Given the description of an element on the screen output the (x, y) to click on. 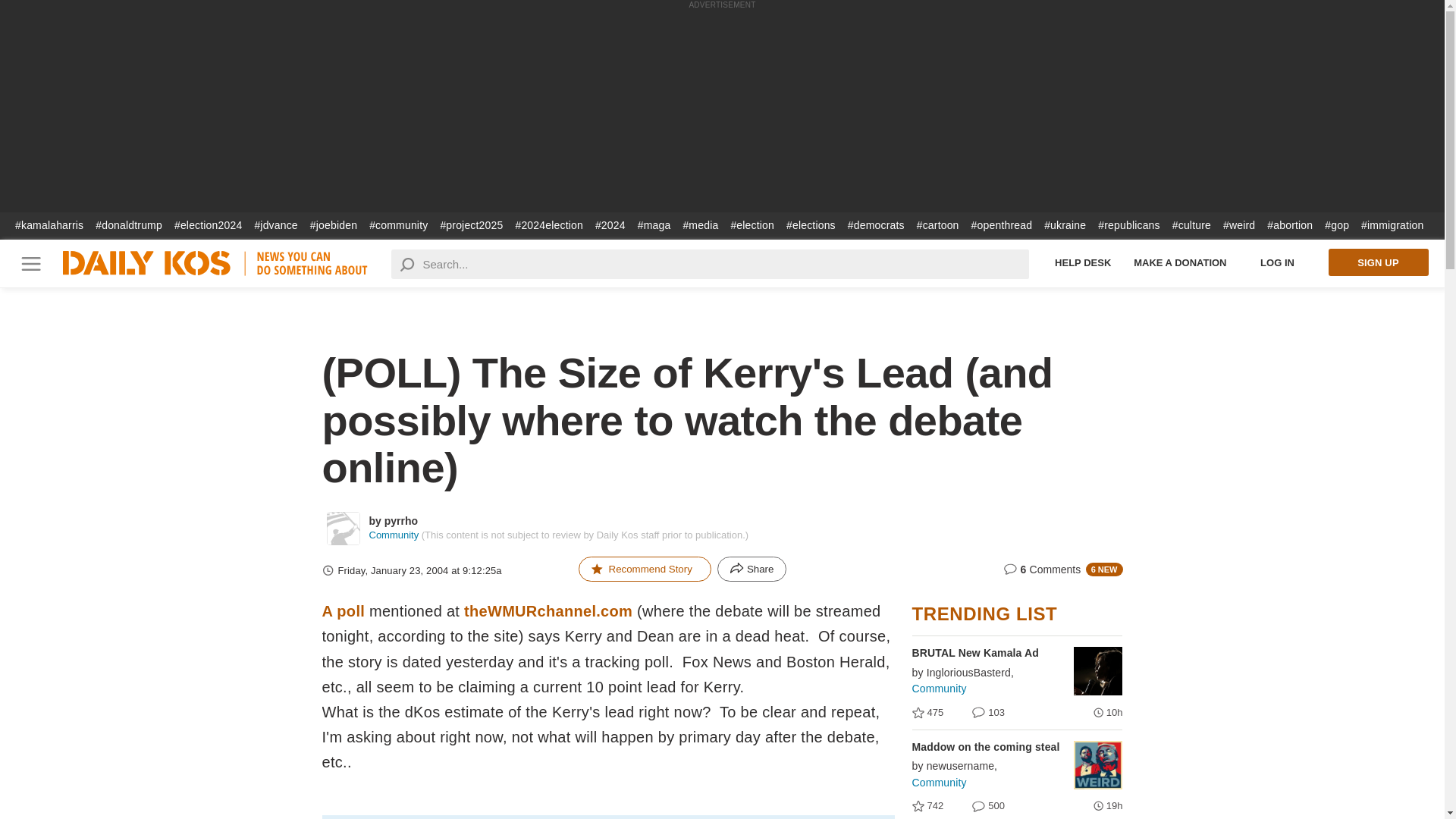
Help Desk (1082, 262)
MAKE A DONATION (1179, 262)
Make a Donation (1179, 262)
